Given the description of an element on the screen output the (x, y) to click on. 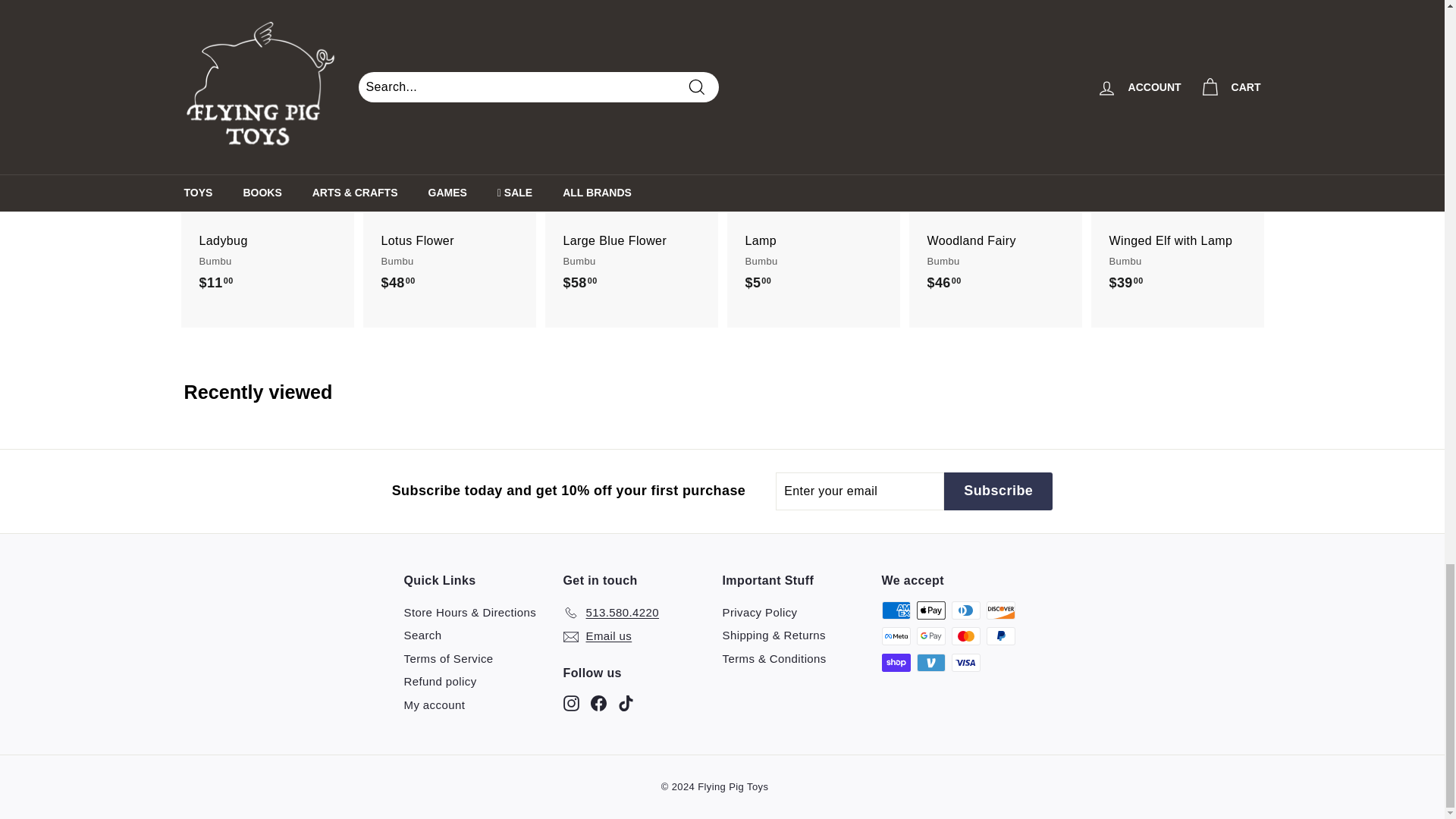
Mastercard (964, 636)
American Express (895, 610)
Diners Club (964, 610)
Meta Pay (895, 636)
Discover (999, 610)
Google Pay (929, 636)
Apple Pay (929, 610)
